Given the description of an element on the screen output the (x, y) to click on. 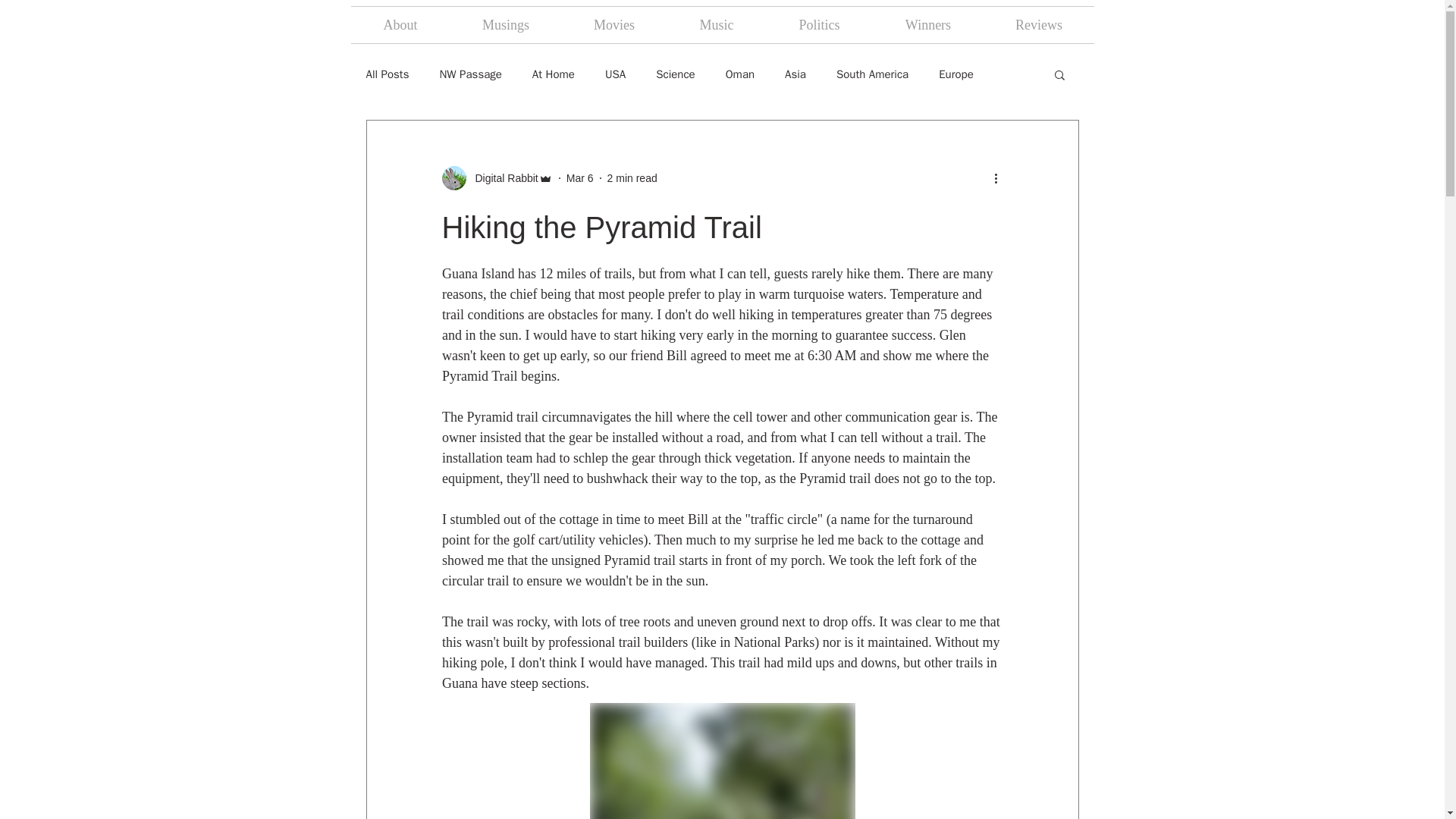
Musings (505, 24)
Reviews (1039, 24)
Digital Rabbit (496, 178)
2 min read (632, 177)
Europe (956, 73)
Politics (818, 24)
Digital Rabbit (501, 177)
Movies (613, 24)
Music (716, 24)
About (399, 24)
